Given the description of an element on the screen output the (x, y) to click on. 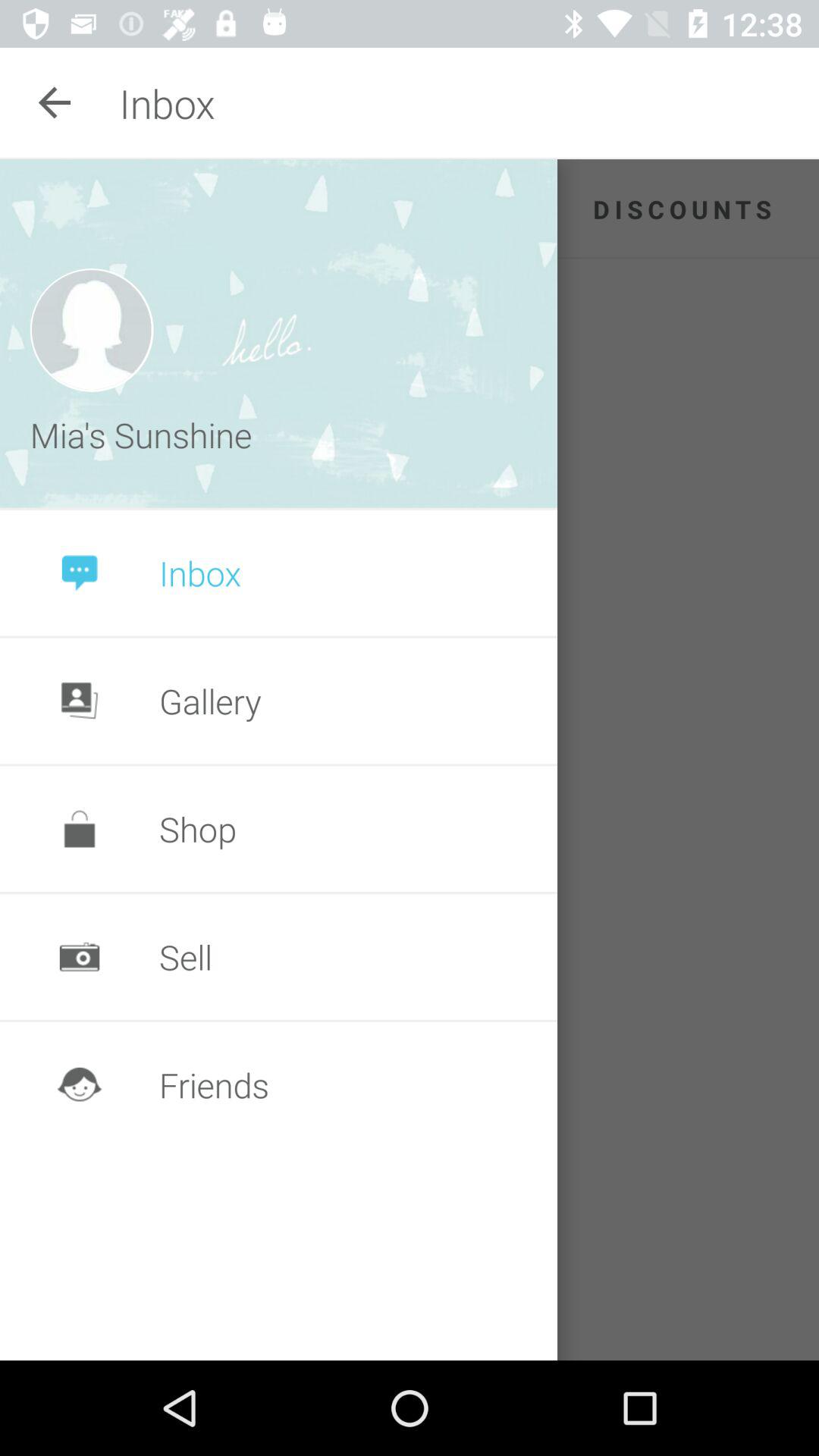
scroll to sell (185, 956)
